Given the description of an element on the screen output the (x, y) to click on. 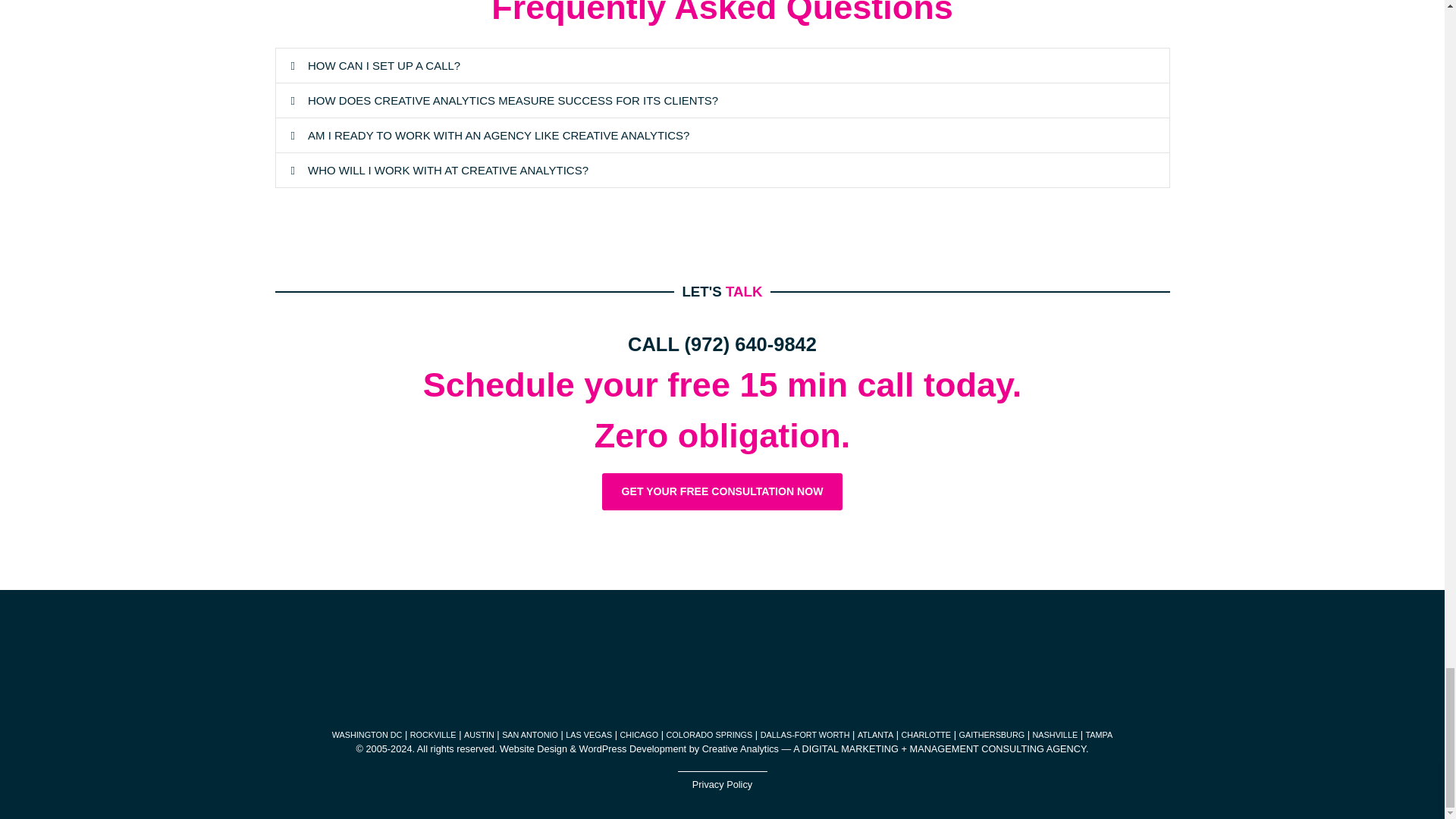
WHO WILL I WORK WITH AT CREATIVE ANALYTICS? (447, 169)
AUSTIN (479, 734)
TAMPA (1099, 734)
GAITHERSBURG (991, 734)
AM I READY TO WORK WITH AN AGENCY LIKE CREATIVE ANALYTICS? (497, 134)
ROCKVILLE (433, 734)
CHICAGO (639, 734)
LAS VEGAS (588, 734)
COLORADO SPRINGS (708, 734)
HOW CAN I SET UP A CALL? (383, 65)
ATLANTA (875, 734)
GET YOUR FREE CONSULTATION NOW (722, 491)
SAN ANTONIO (529, 734)
HOW DOES CREATIVE ANALYTICS MEASURE SUCCESS FOR ITS CLIENTS? (512, 100)
Privacy Policy (722, 784)
